Given the description of an element on the screen output the (x, y) to click on. 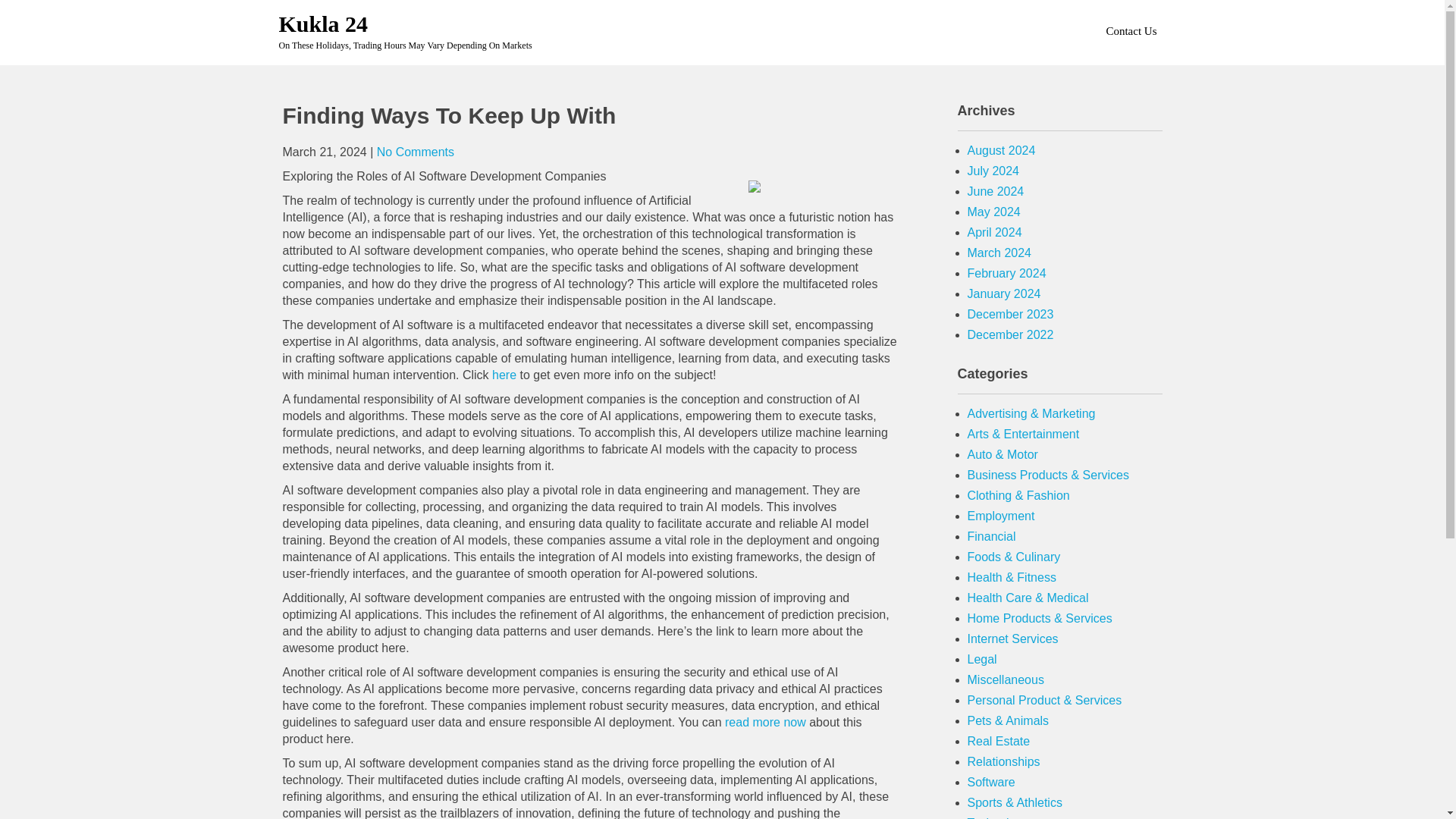
January 2024 (1004, 293)
Employment (1001, 515)
Contact Us (1130, 30)
February 2024 (1007, 273)
April 2024 (995, 232)
Software (991, 781)
here (504, 374)
Kukla 24 (323, 23)
Internet Services (1013, 638)
May 2024 (994, 211)
